Given the description of an element on the screen output the (x, y) to click on. 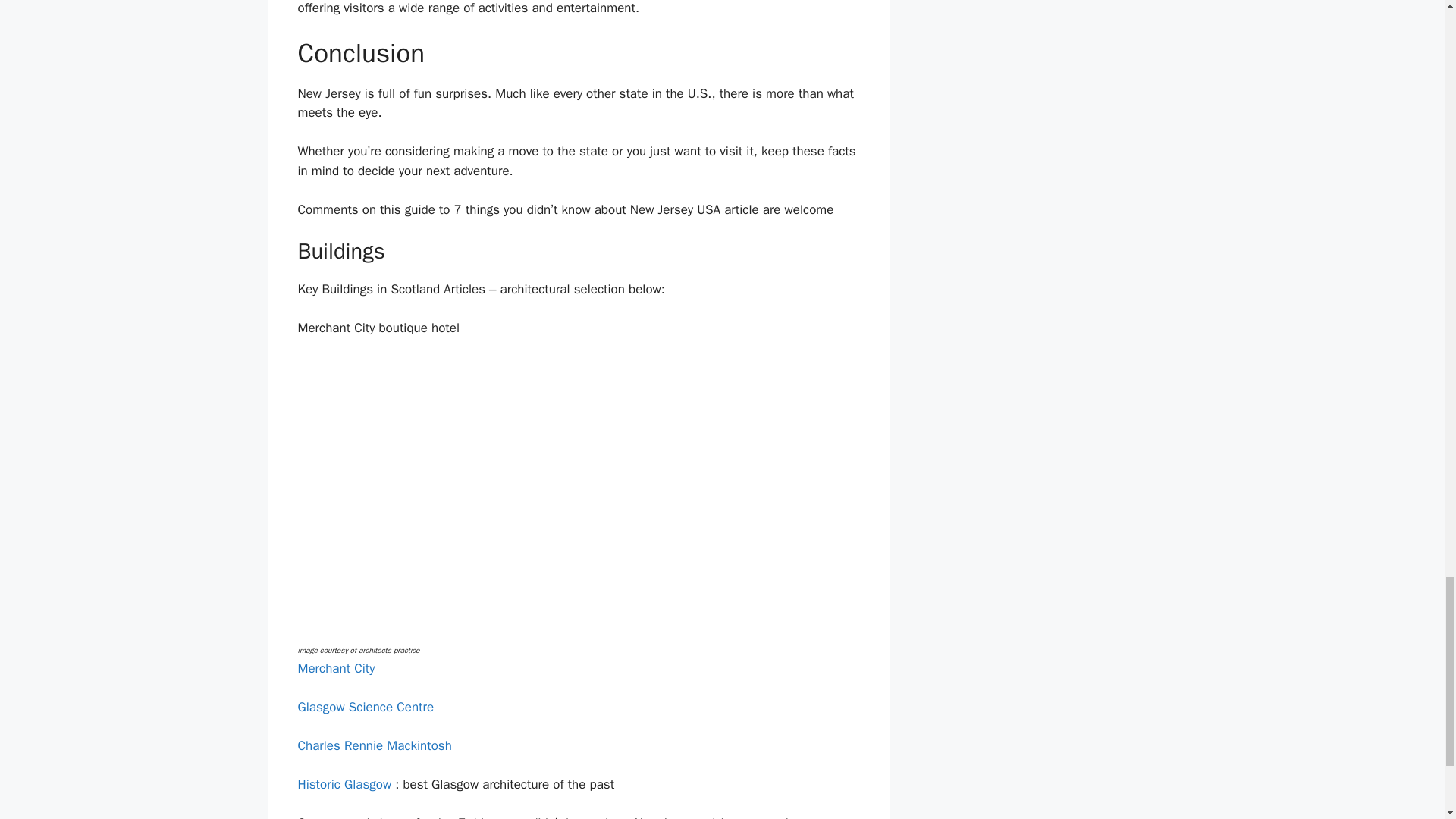
Charles Rennie Mackintosh (374, 745)
Glasgow Science Centre (365, 706)
Merchant City (335, 668)
Historic Glasgow (344, 784)
